Given the description of an element on the screen output the (x, y) to click on. 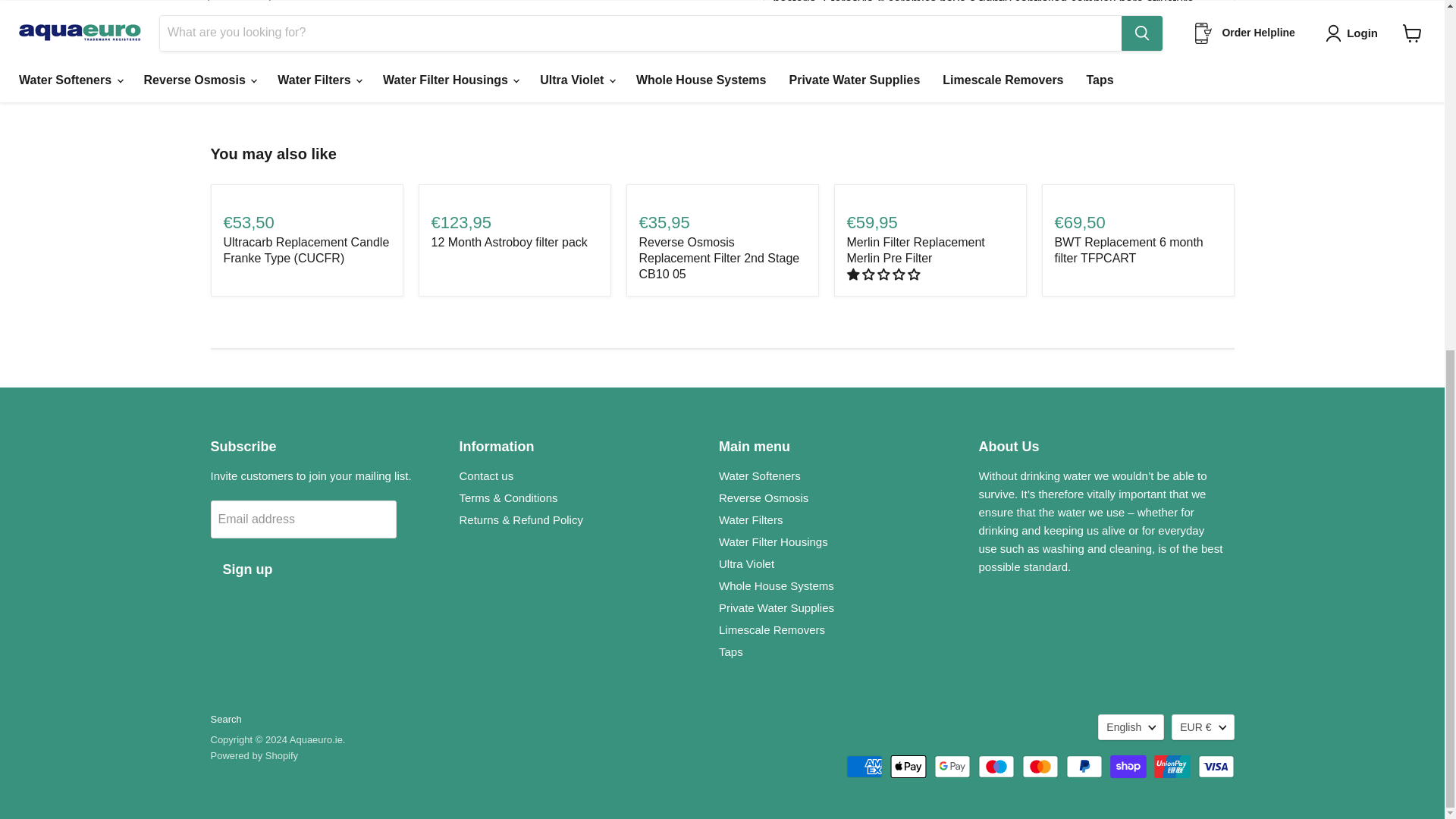
Maestro (996, 766)
Shop Pay (1128, 766)
Apple Pay (907, 766)
Google Pay (952, 766)
Union Pay (1172, 766)
PayPal (1083, 766)
Mastercard (1040, 766)
American Express (863, 766)
